Given the description of an element on the screen output the (x, y) to click on. 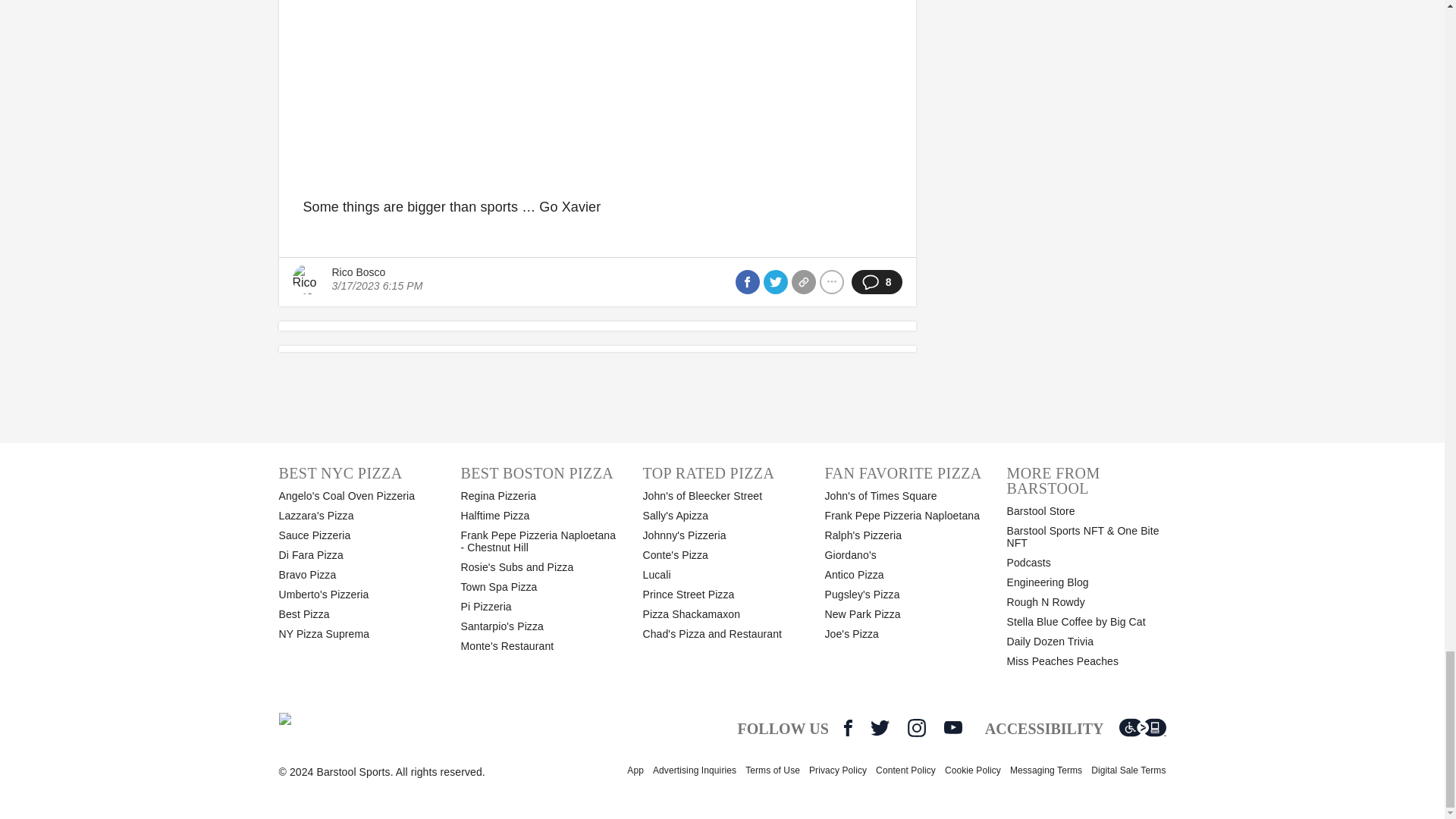
Level Access website accessibility icon (1142, 727)
Facebook Icon (847, 728)
Instagram Icon (916, 728)
YouTube Icon (952, 727)
Twitter Icon (879, 728)
